Given the description of an element on the screen output the (x, y) to click on. 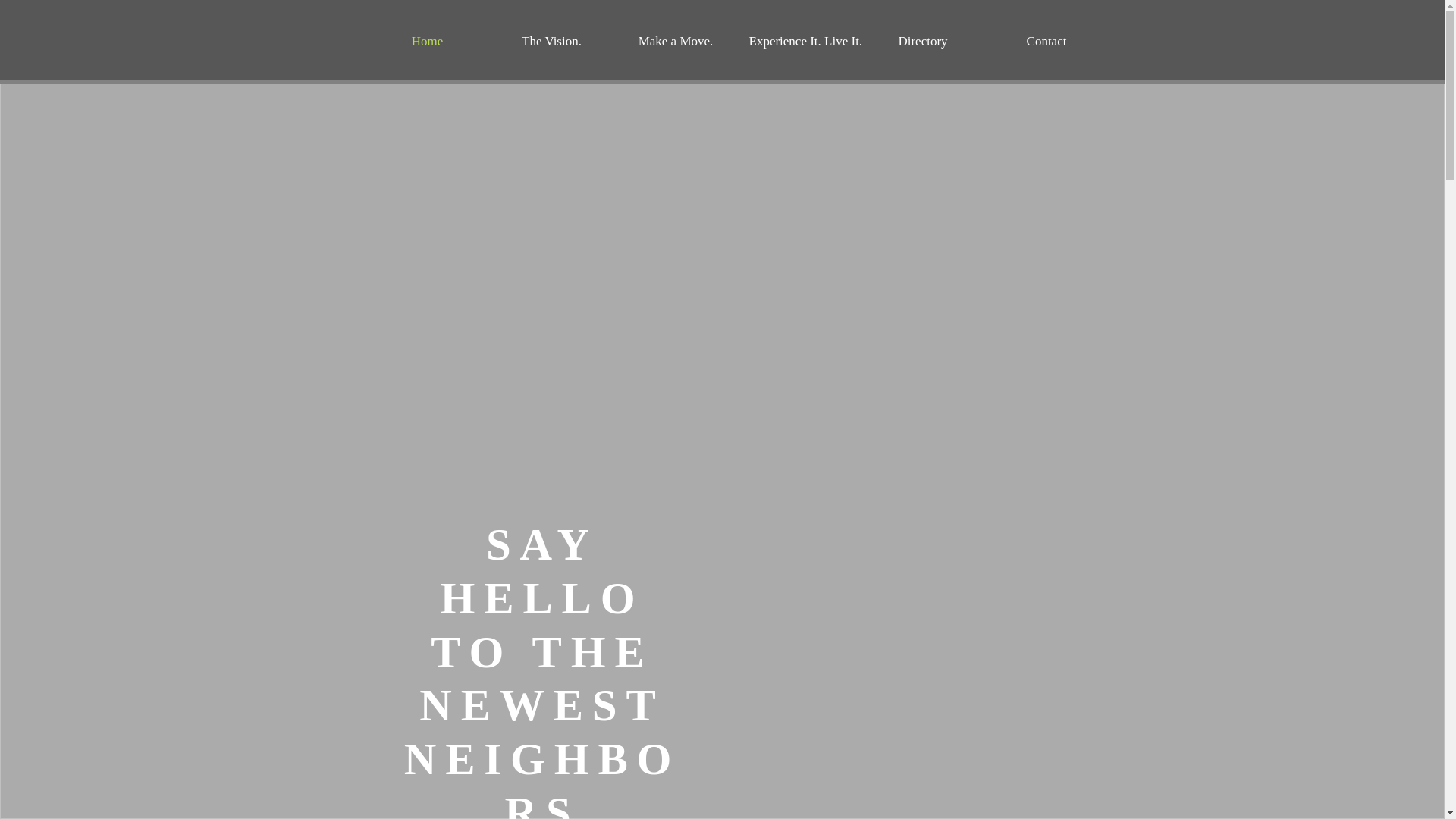
The Vision. (551, 41)
Make a Move. (676, 41)
Home (427, 41)
Experience It. Live It. (798, 41)
Directory (923, 41)
Contact (1046, 41)
